Given the description of an element on the screen output the (x, y) to click on. 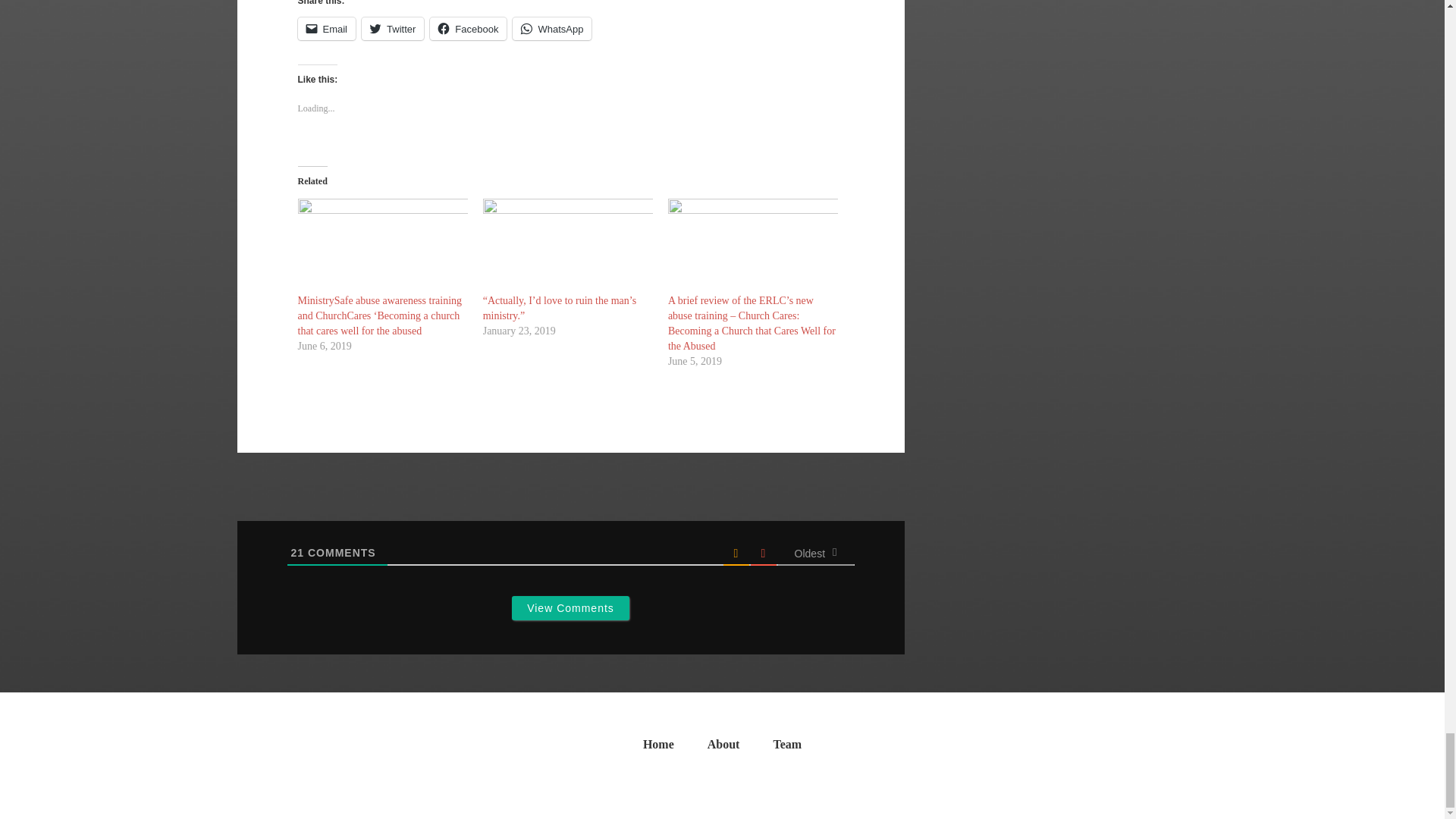
Click to share on Facebook (467, 28)
Click to share on WhatsApp (551, 28)
View Comments (570, 607)
21 (297, 552)
Home (657, 748)
Twitter (392, 28)
WhatsApp (551, 28)
Team (786, 748)
Email (326, 28)
Facebook (467, 28)
